Given the description of an element on the screen output the (x, y) to click on. 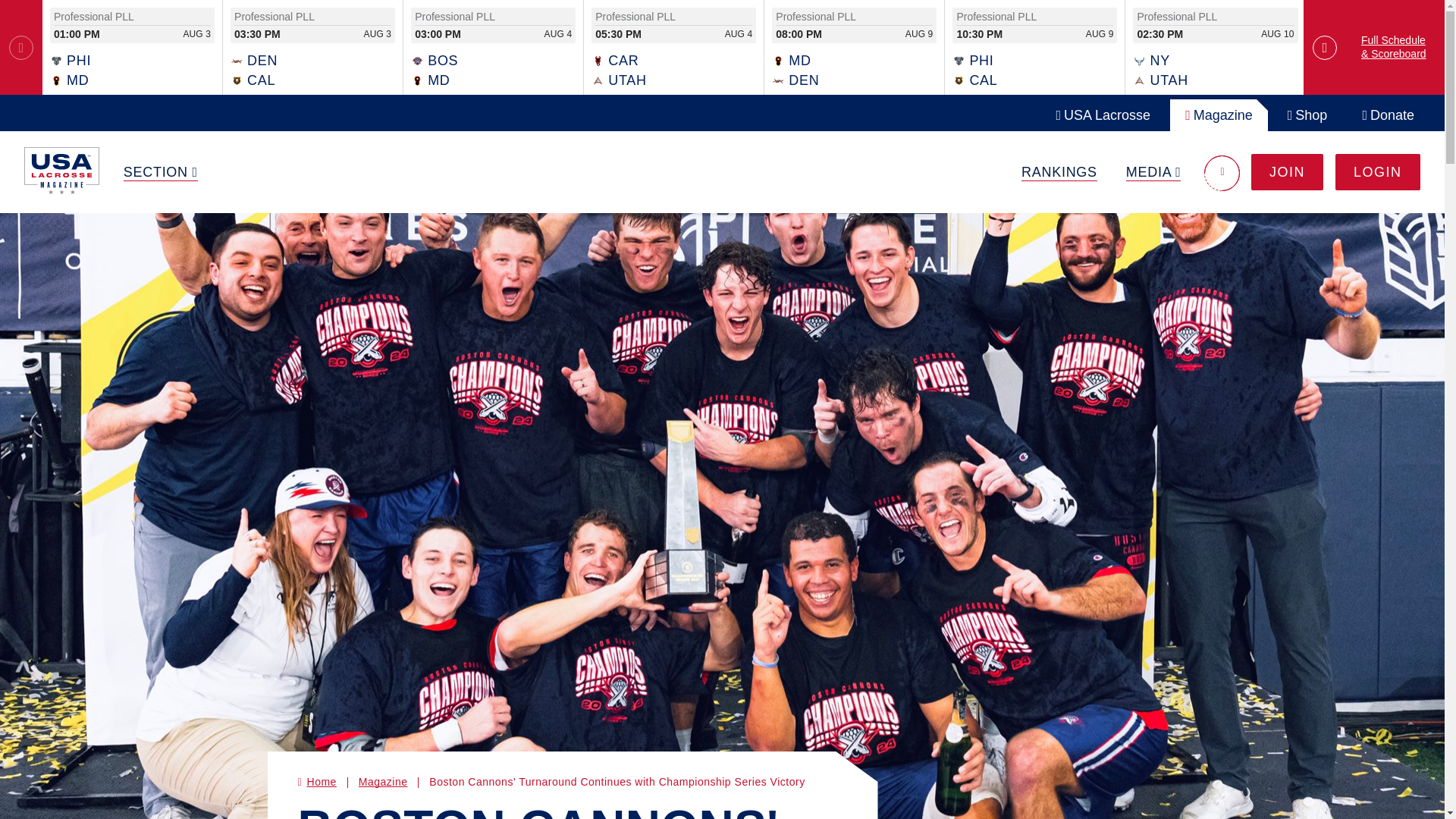
RANKINGS (1059, 171)
Donate (1387, 115)
Previous (20, 46)
Magazine (1219, 115)
LOGIN (1378, 171)
MEDIA (1152, 171)
SECTION (160, 171)
USA Lacrosse (1103, 115)
Shop (1307, 115)
JOIN (1286, 171)
Next (1324, 46)
